Given the description of an element on the screen output the (x, y) to click on. 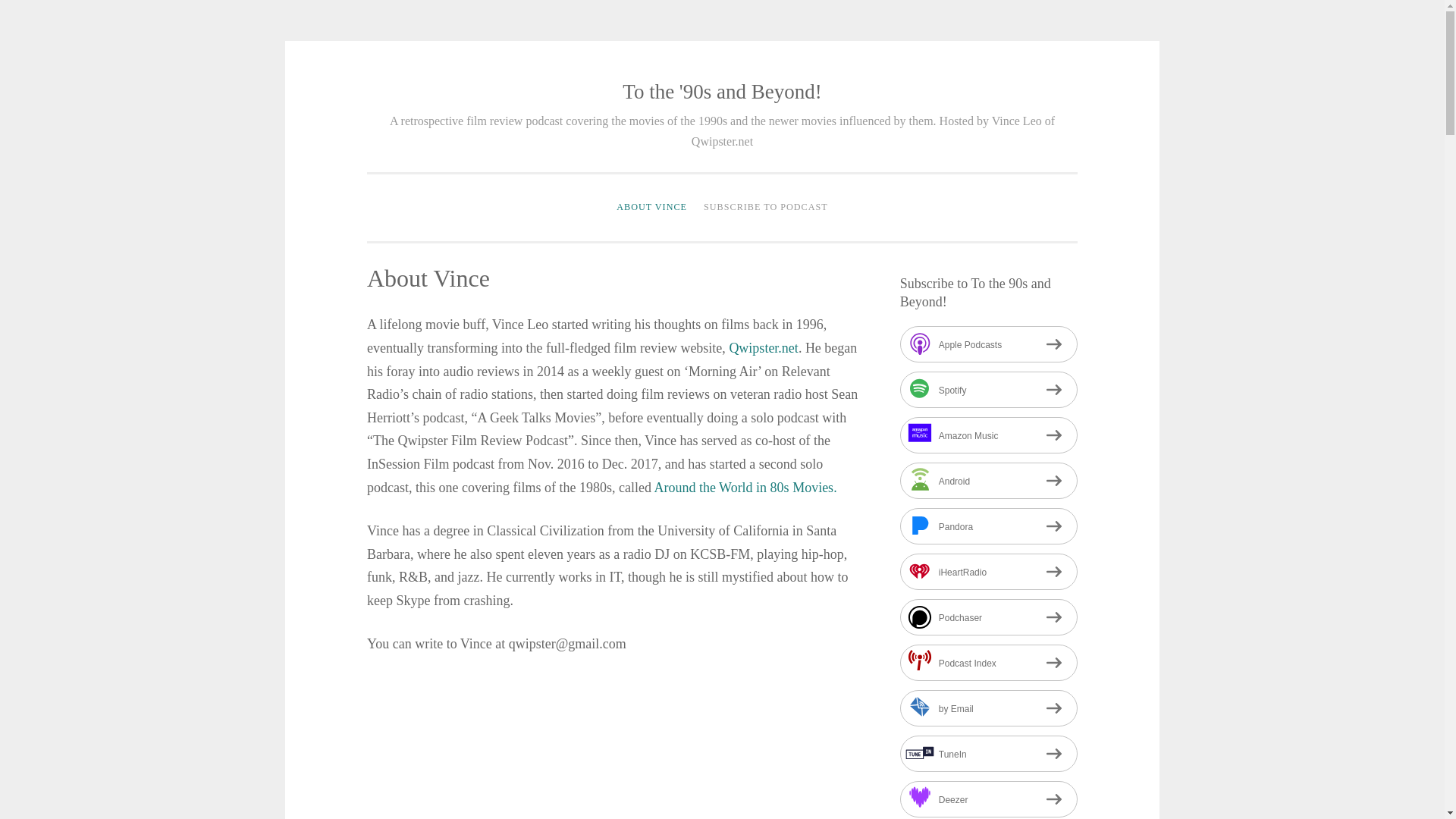
Subscribe on Apple Podcasts (988, 343)
ABOUT VINCE (652, 207)
Pandora (988, 525)
Apple Podcasts (988, 343)
Subscribe on Podcast Index (988, 662)
Amazon Music (988, 434)
Android (988, 480)
Podcast Index (988, 662)
Subscribe on Deezer (988, 799)
